Given the description of an element on the screen output the (x, y) to click on. 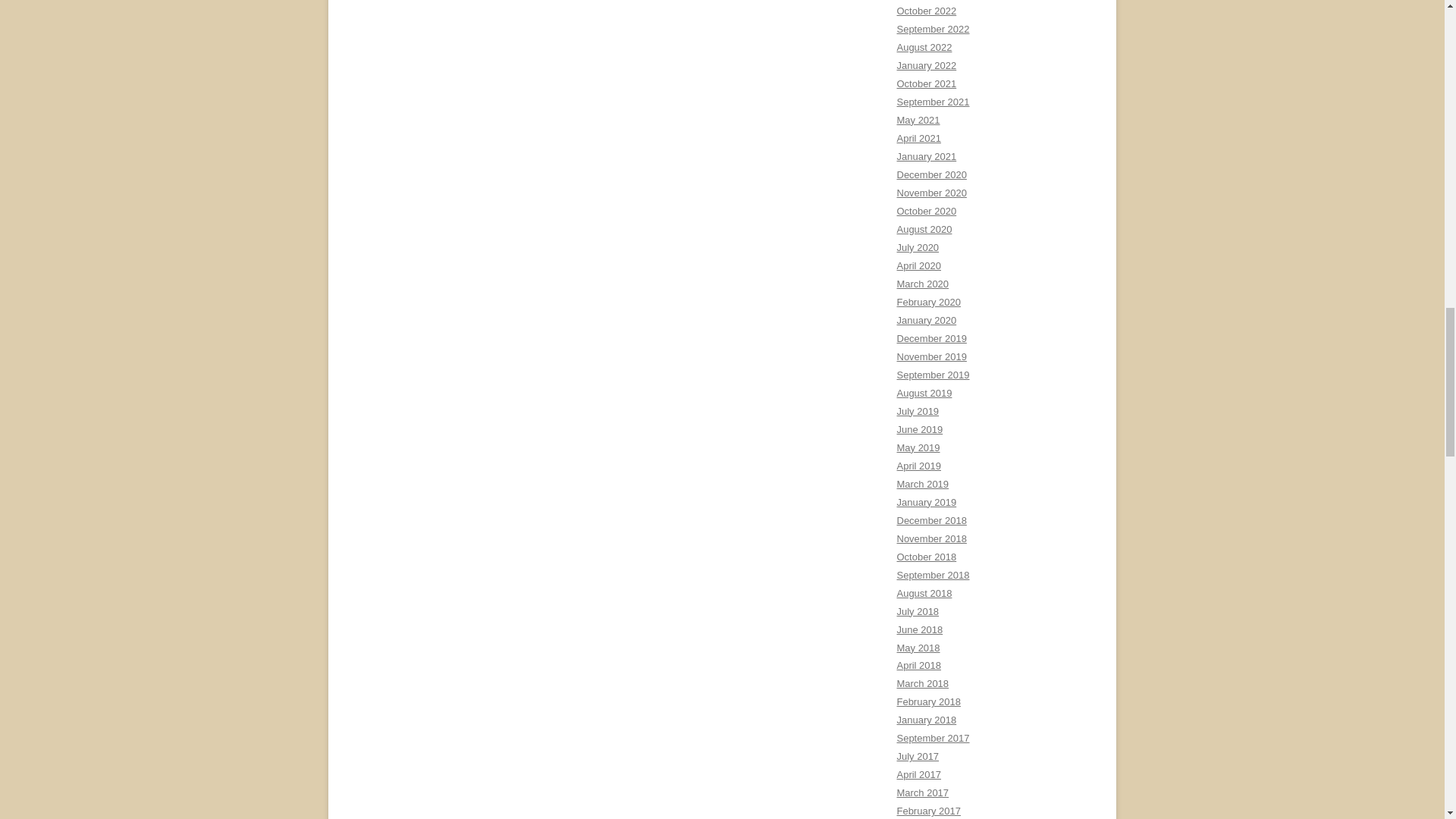
August 2022 (924, 47)
October 2021 (926, 83)
September 2022 (932, 29)
January 2022 (926, 65)
October 2022 (926, 10)
September 2021 (932, 101)
